Given the description of an element on the screen output the (x, y) to click on. 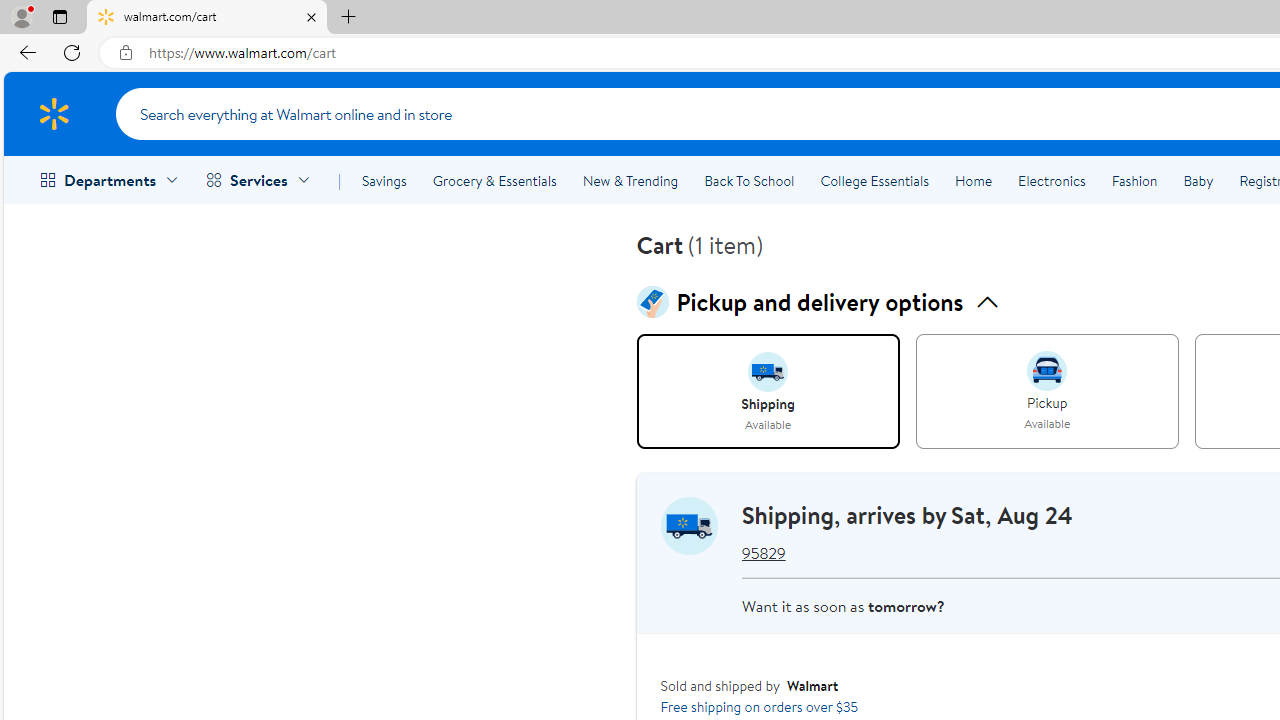
Back To School (749, 180)
PICKUP, Available (1046, 392)
Electronics (1051, 180)
New & Trending (630, 180)
Back To School (749, 180)
College Essentials (874, 180)
Fashion (1134, 180)
Walmart Homepage (53, 113)
